Given the description of an element on the screen output the (x, y) to click on. 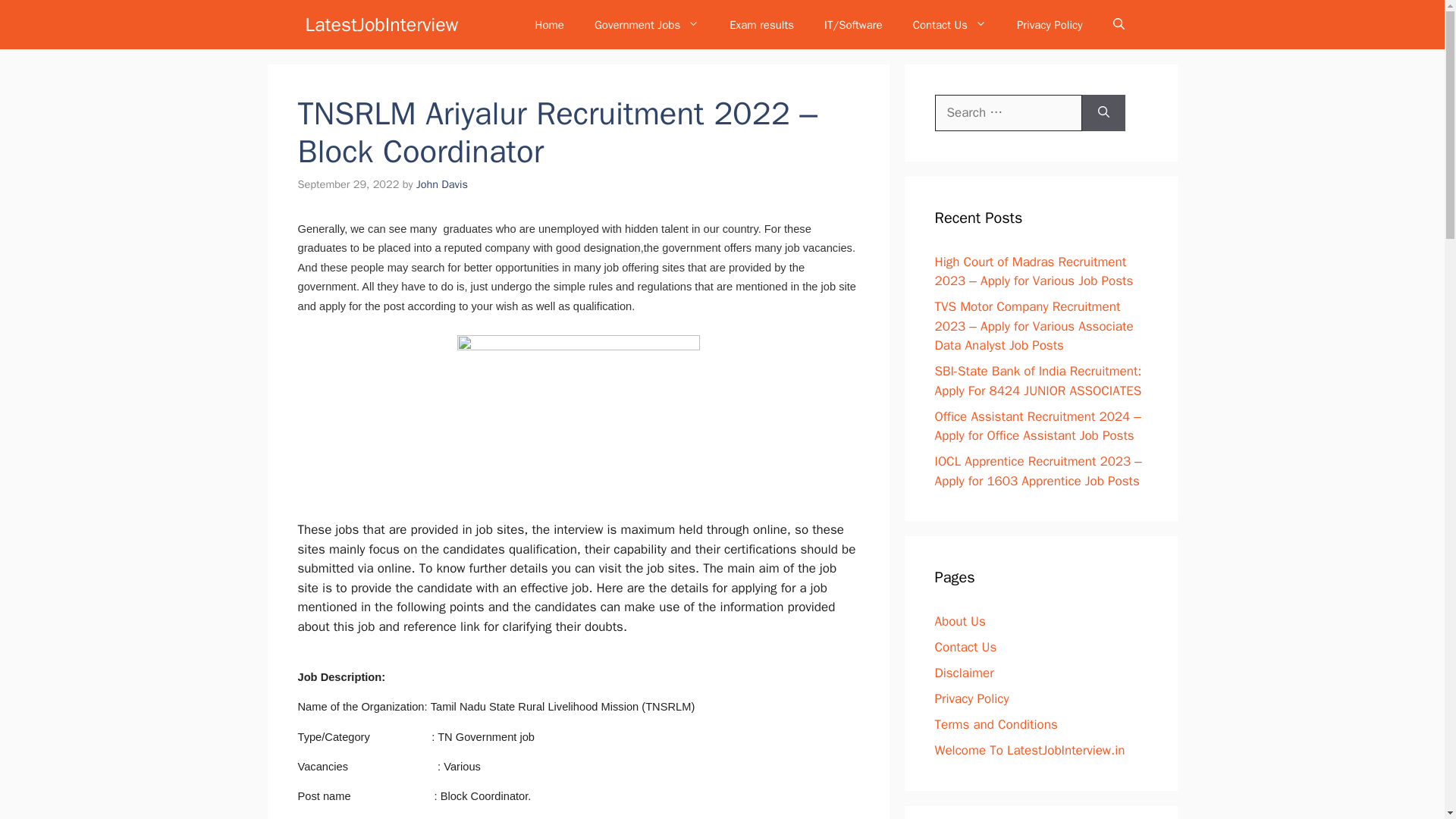
Contact Us (964, 647)
Exam results (761, 23)
Search for: (1007, 113)
Disclaimer (963, 672)
Home (549, 23)
Welcome To LatestJobInterview.in (1029, 750)
Contact Us (949, 23)
LatestJobInterview (381, 24)
Terms and Conditions (995, 724)
View all posts by John Davis (441, 183)
Privacy Policy (971, 698)
Privacy Policy (1049, 23)
John Davis (441, 183)
Government Jobs (646, 23)
